Given the description of an element on the screen output the (x, y) to click on. 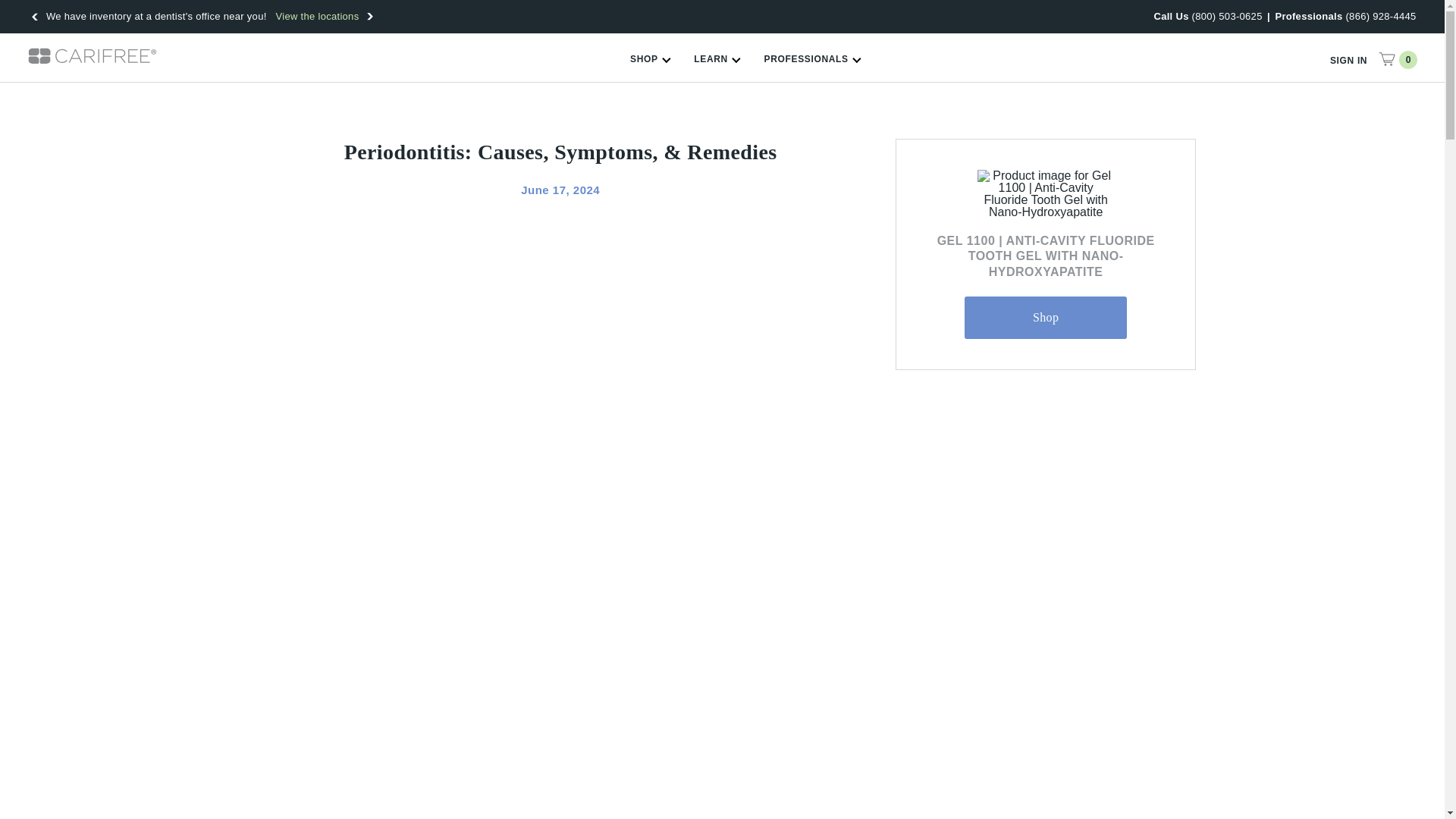
cart (1386, 58)
SHOP (649, 64)
PROFESSIONALS (812, 64)
View your shopping cart (1396, 58)
LEARN (716, 64)
View the locations (314, 16)
